Given the description of an element on the screen output the (x, y) to click on. 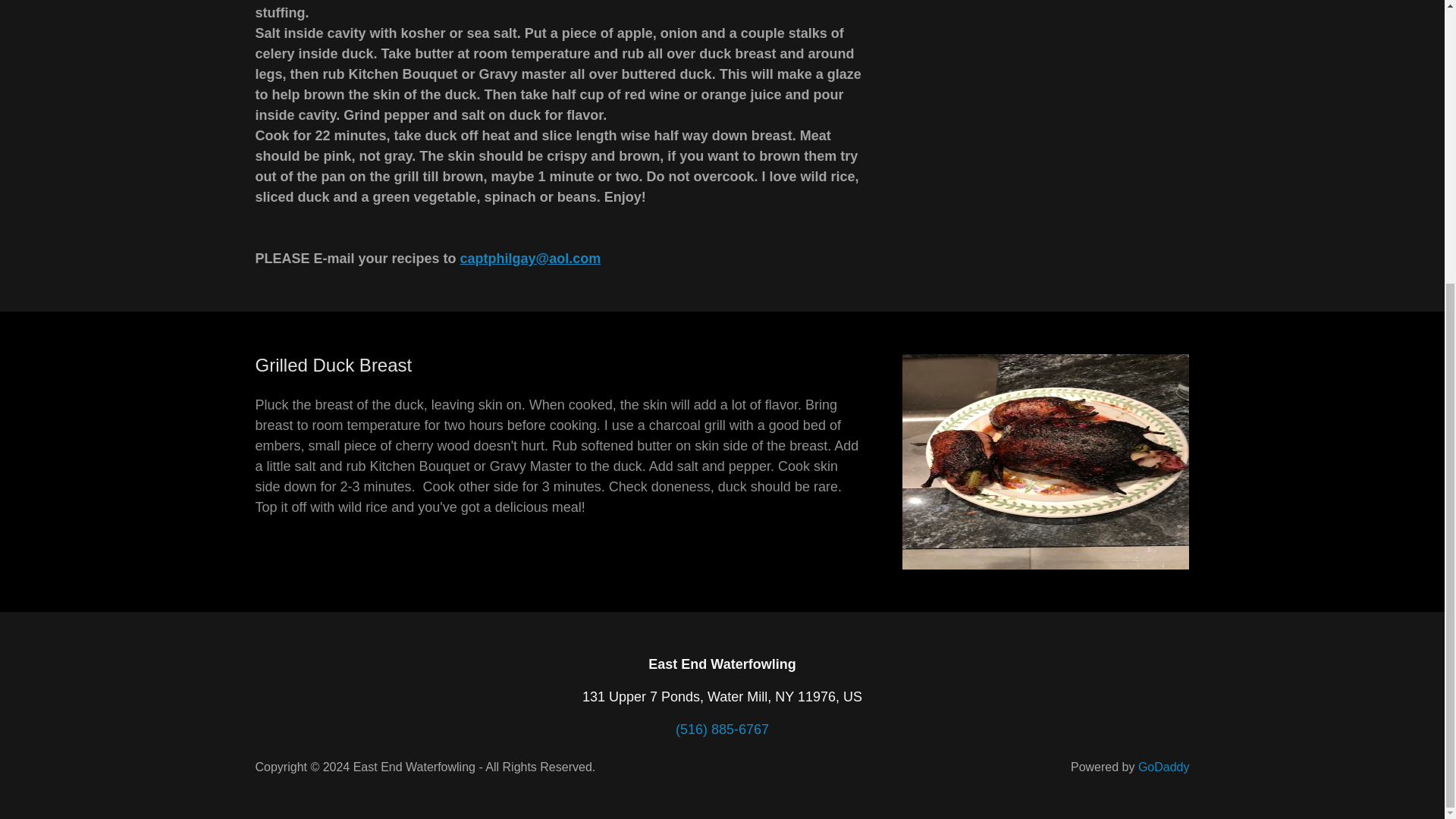
GoDaddy (1163, 766)
